Given the description of an element on the screen output the (x, y) to click on. 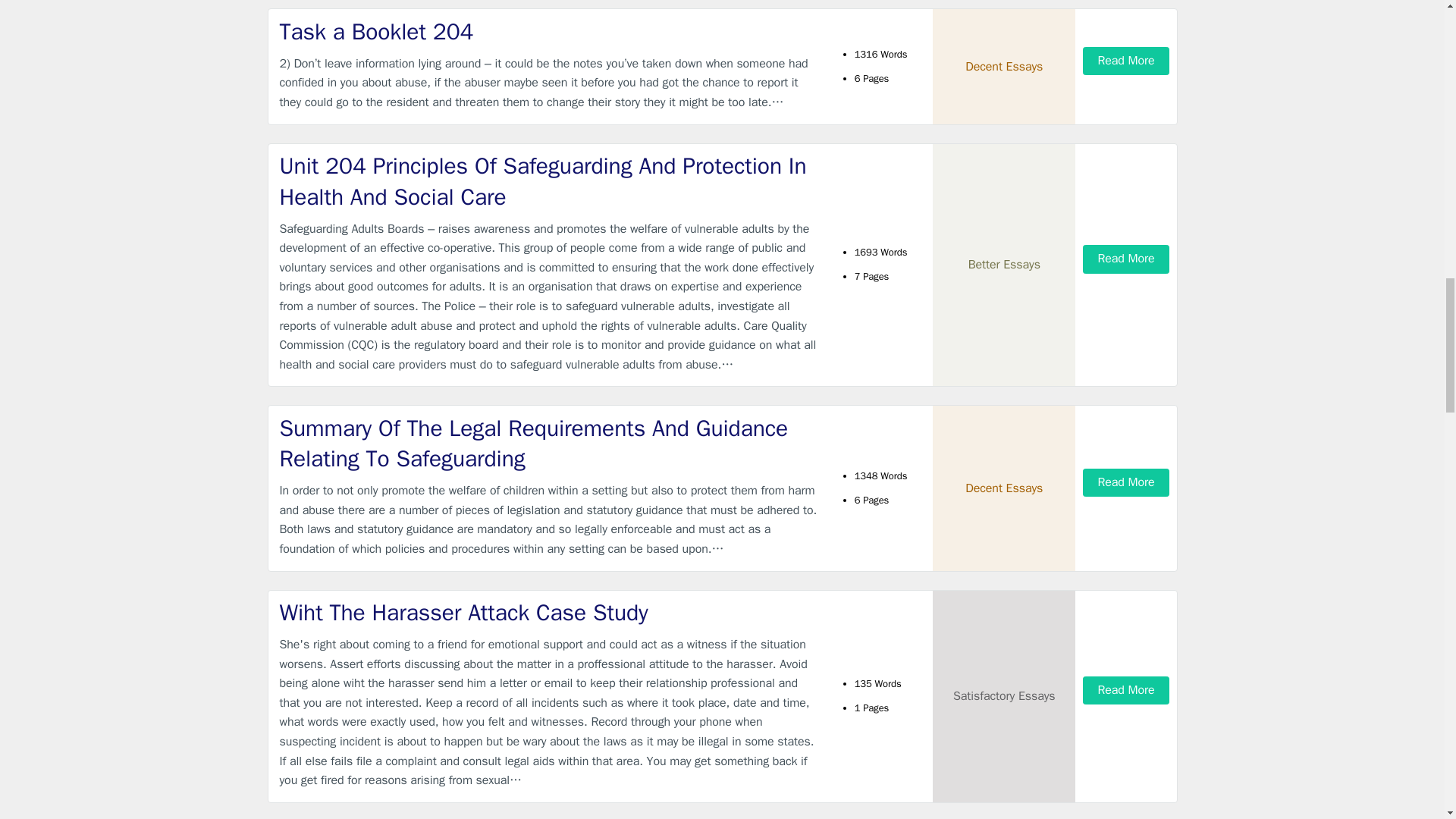
Read More (1126, 690)
Read More (1126, 482)
Task a Booklet 204 (548, 31)
Wiht The Harasser Attack Case Study (548, 612)
Read More (1126, 258)
Read More (1126, 60)
